Given the description of an element on the screen output the (x, y) to click on. 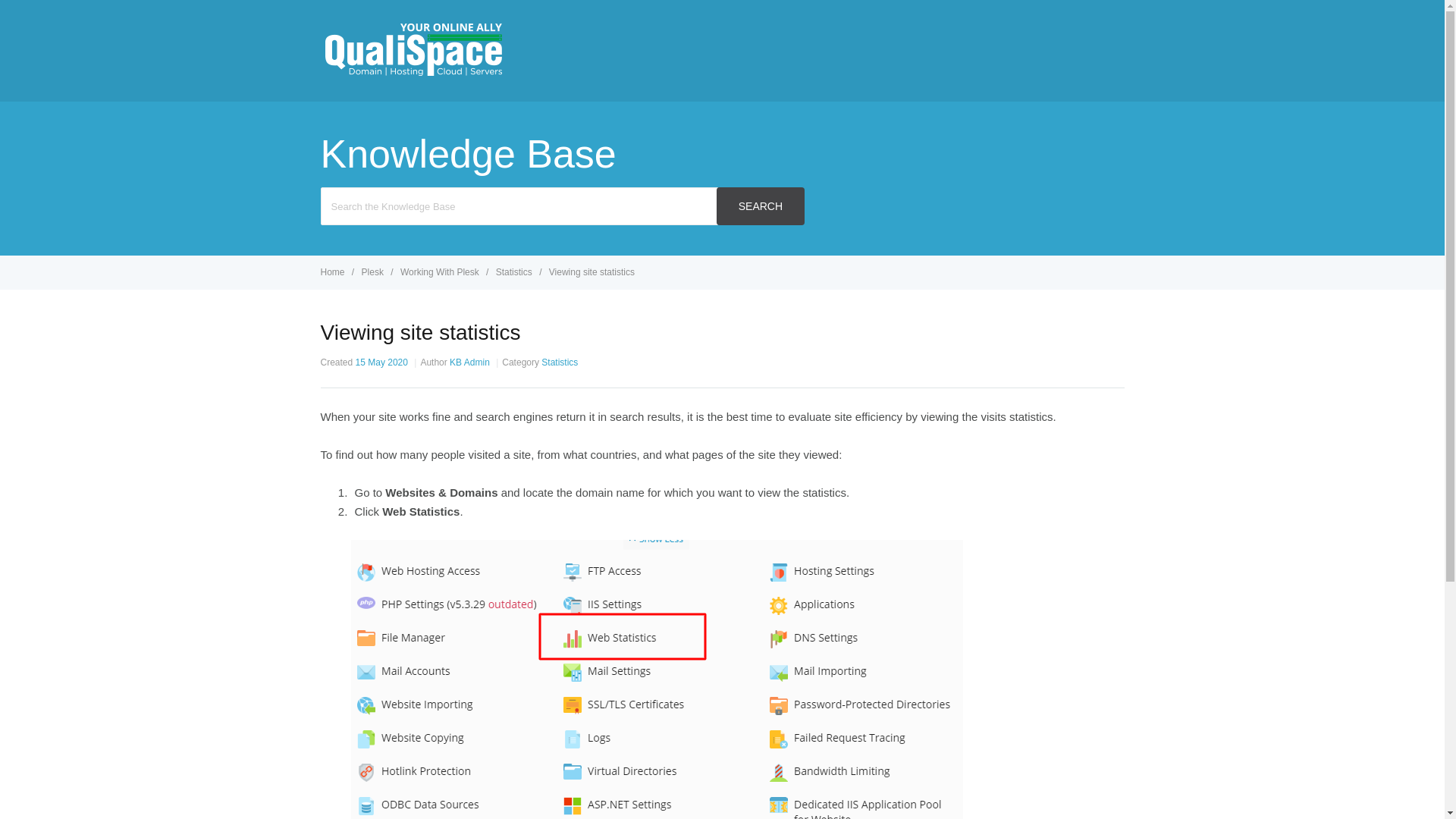
Statistics (515, 271)
SEARCH (759, 206)
15 May 2020 (381, 362)
Plesk (374, 271)
Viewing site statistics (591, 271)
Home (333, 271)
Statistics (559, 362)
KB Admin (469, 362)
QualiSpace Knowledge Base (411, 72)
Working With Plesk (440, 271)
KB Admin (469, 362)
